Given the description of an element on the screen output the (x, y) to click on. 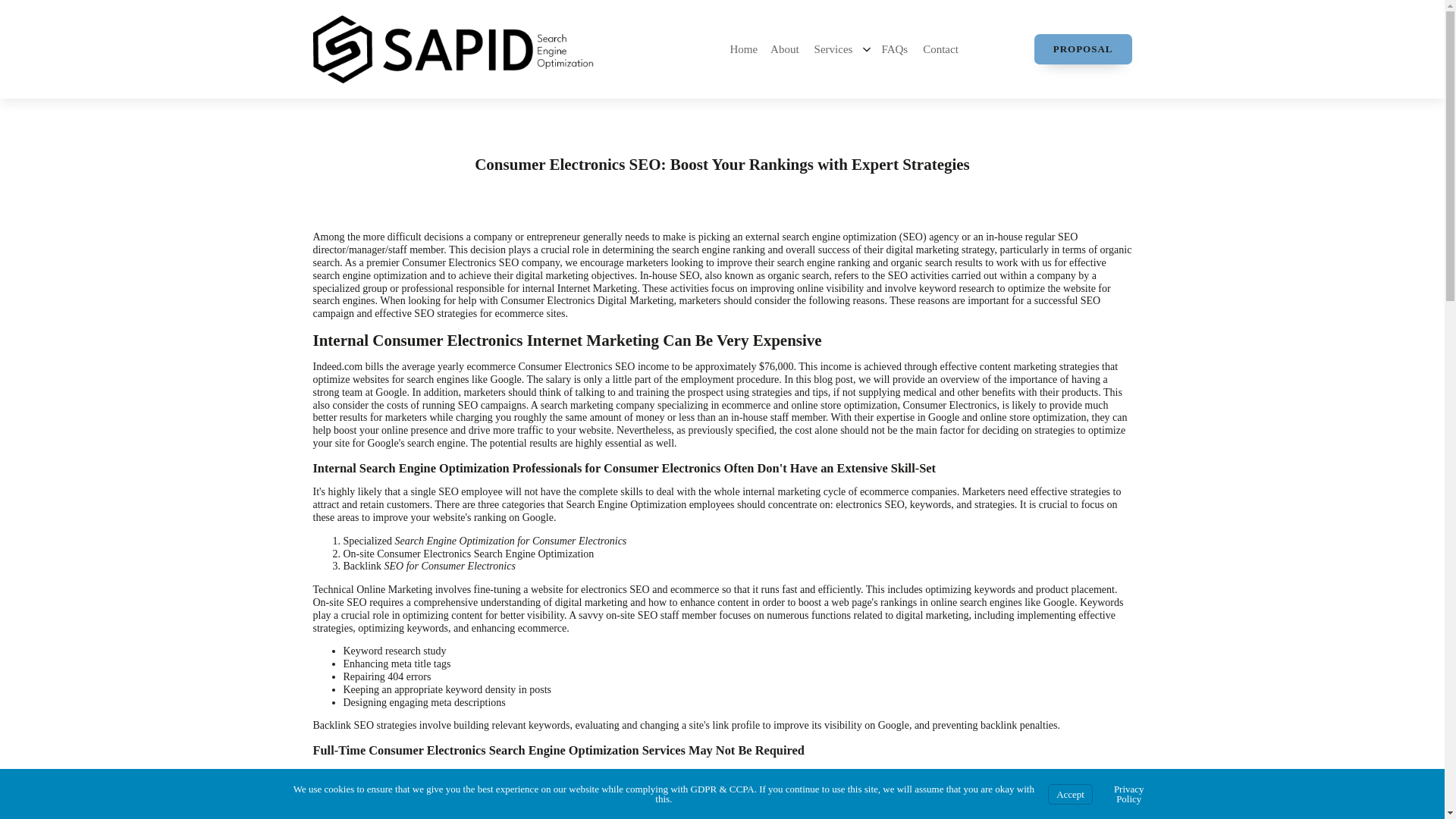
FAQs (897, 49)
PROPOSAL (1082, 49)
Contact (943, 49)
Home (747, 49)
About (788, 49)
